Given the description of an element on the screen output the (x, y) to click on. 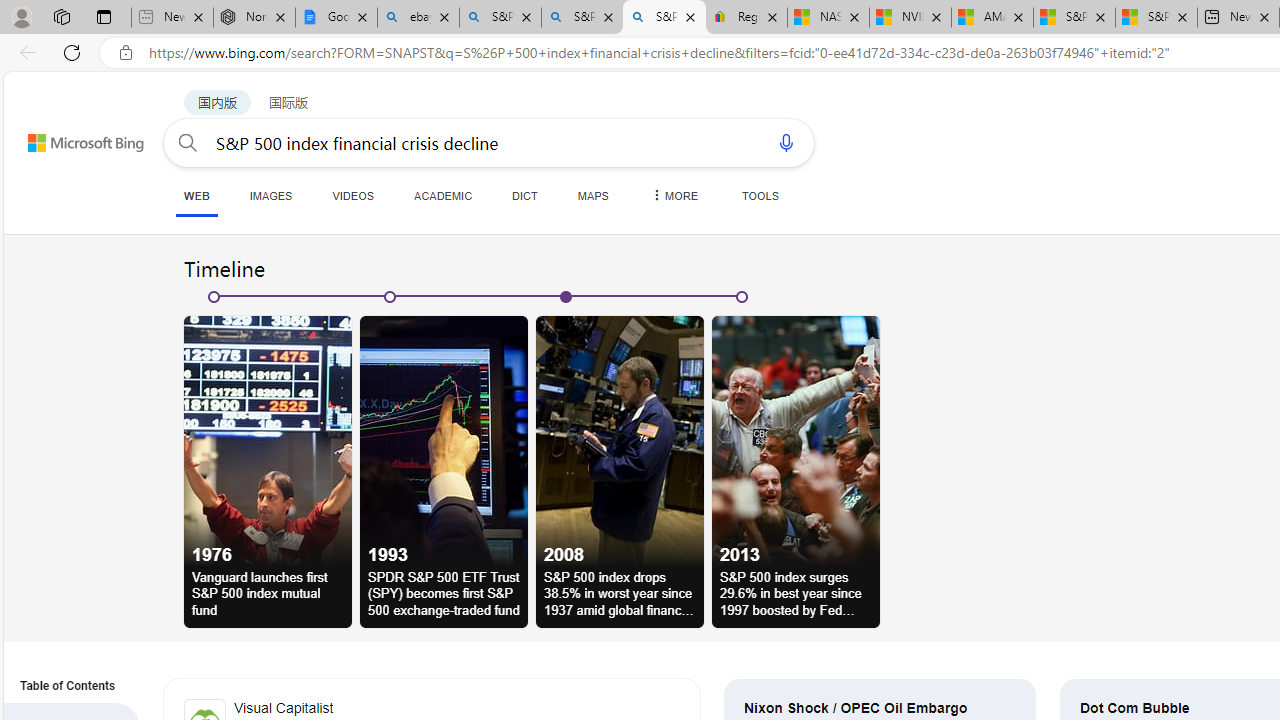
MORE (673, 195)
ACADEMIC (443, 195)
ACADEMIC (443, 195)
VIDEOS (352, 195)
1976 (268, 440)
2008 (620, 440)
ebay - Search (418, 17)
DICT (525, 195)
